Given the description of an element on the screen output the (x, y) to click on. 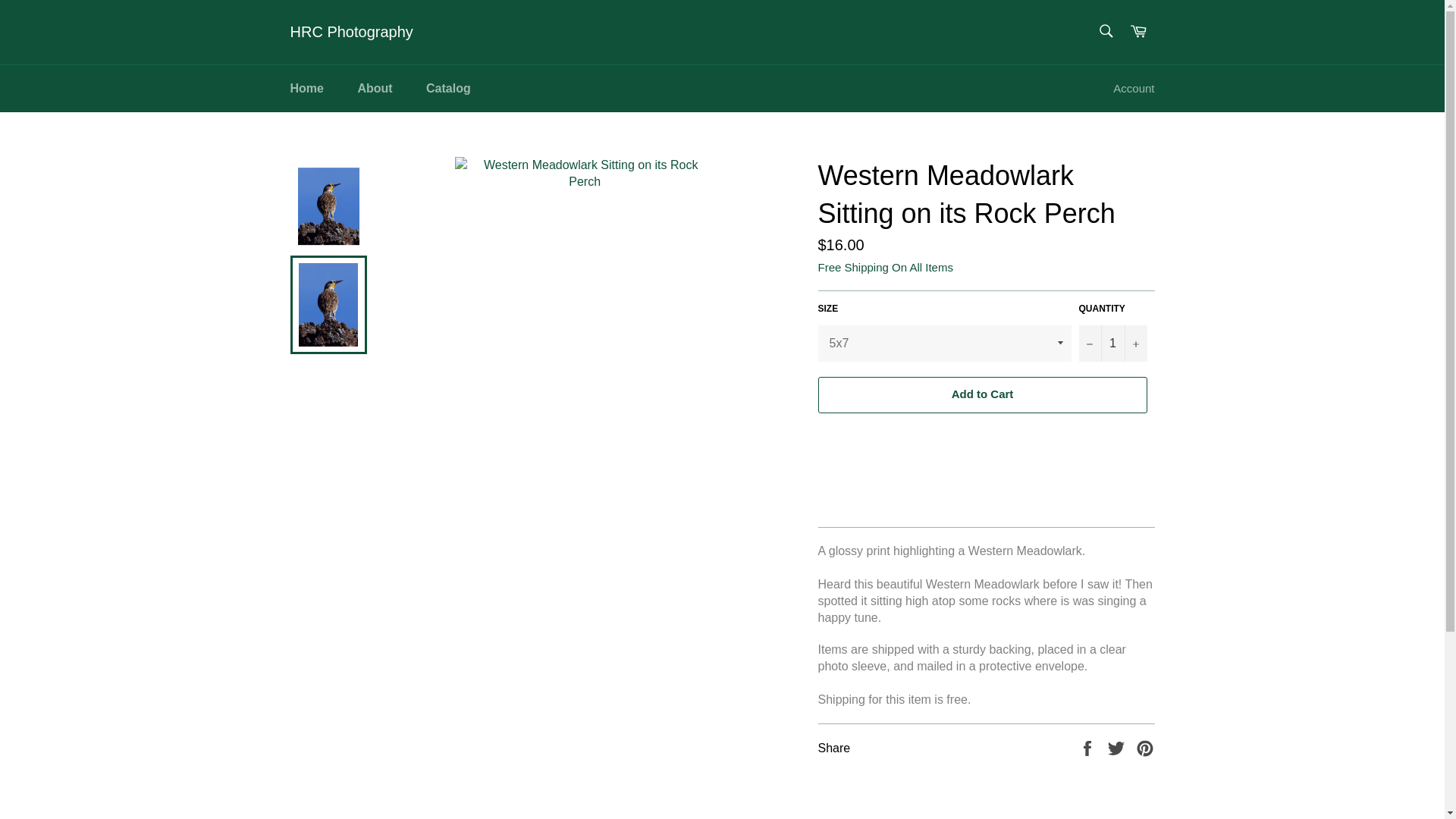
Cart (1138, 32)
Catalog (448, 88)
About (374, 88)
Home (306, 88)
Pin on Pinterest (1144, 747)
Add to Cart (981, 394)
Tweet on Twitter (1117, 747)
Share on Facebook (1088, 747)
Share on Facebook (1088, 747)
Account (1133, 89)
Tweet on Twitter (1117, 747)
Pin on Pinterest (1144, 747)
Search (1104, 30)
Free Shipping On All Items (884, 267)
HRC Photography (350, 32)
